Given the description of an element on the screen output the (x, y) to click on. 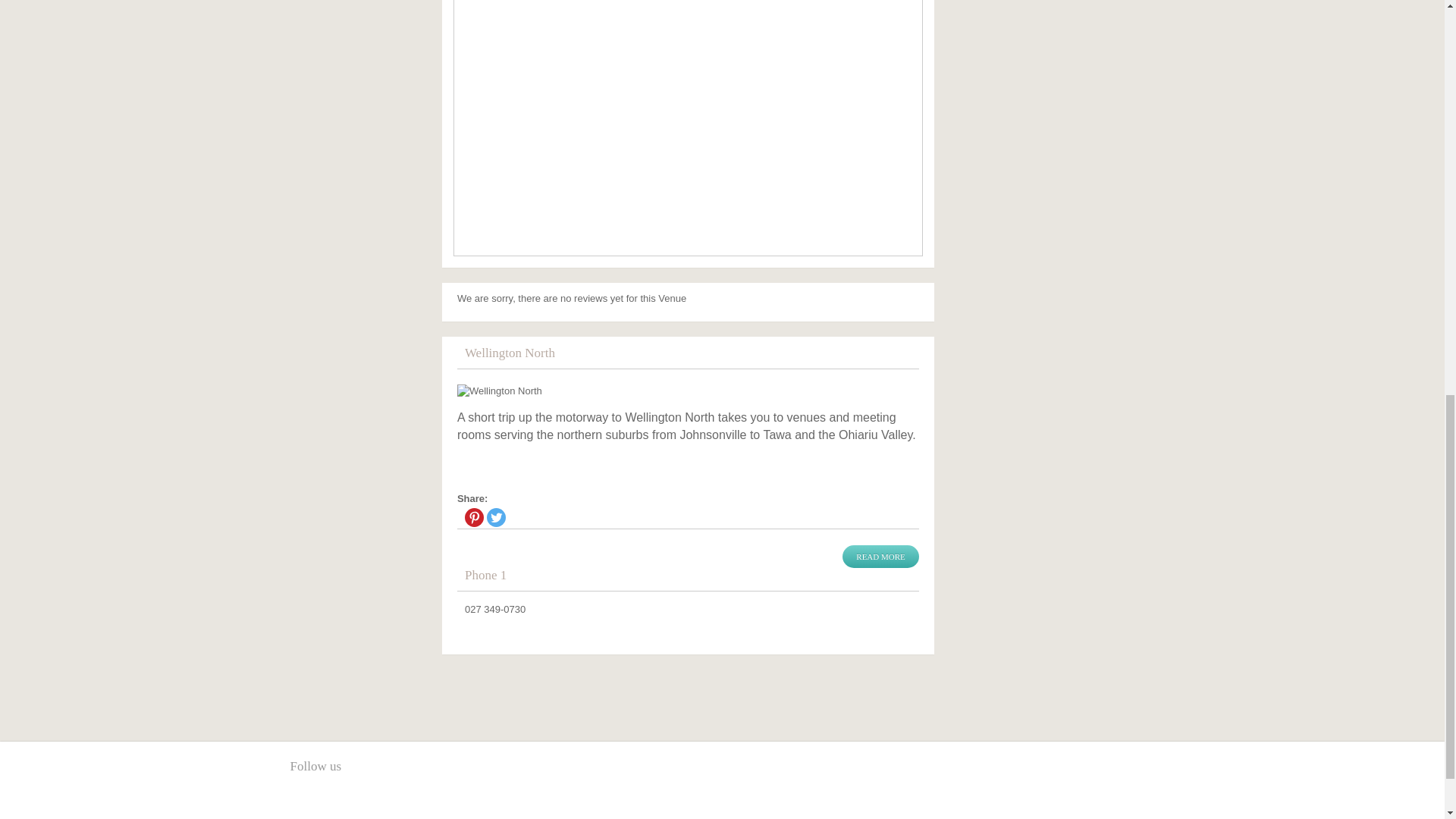
Read more (880, 556)
facebook (301, 800)
Pinterest (473, 517)
pinterest (326, 800)
Twitter (495, 517)
facebook (301, 800)
pinterest (326, 800)
Wellington North (687, 391)
READ MORE (880, 556)
